Given the description of an element on the screen output the (x, y) to click on. 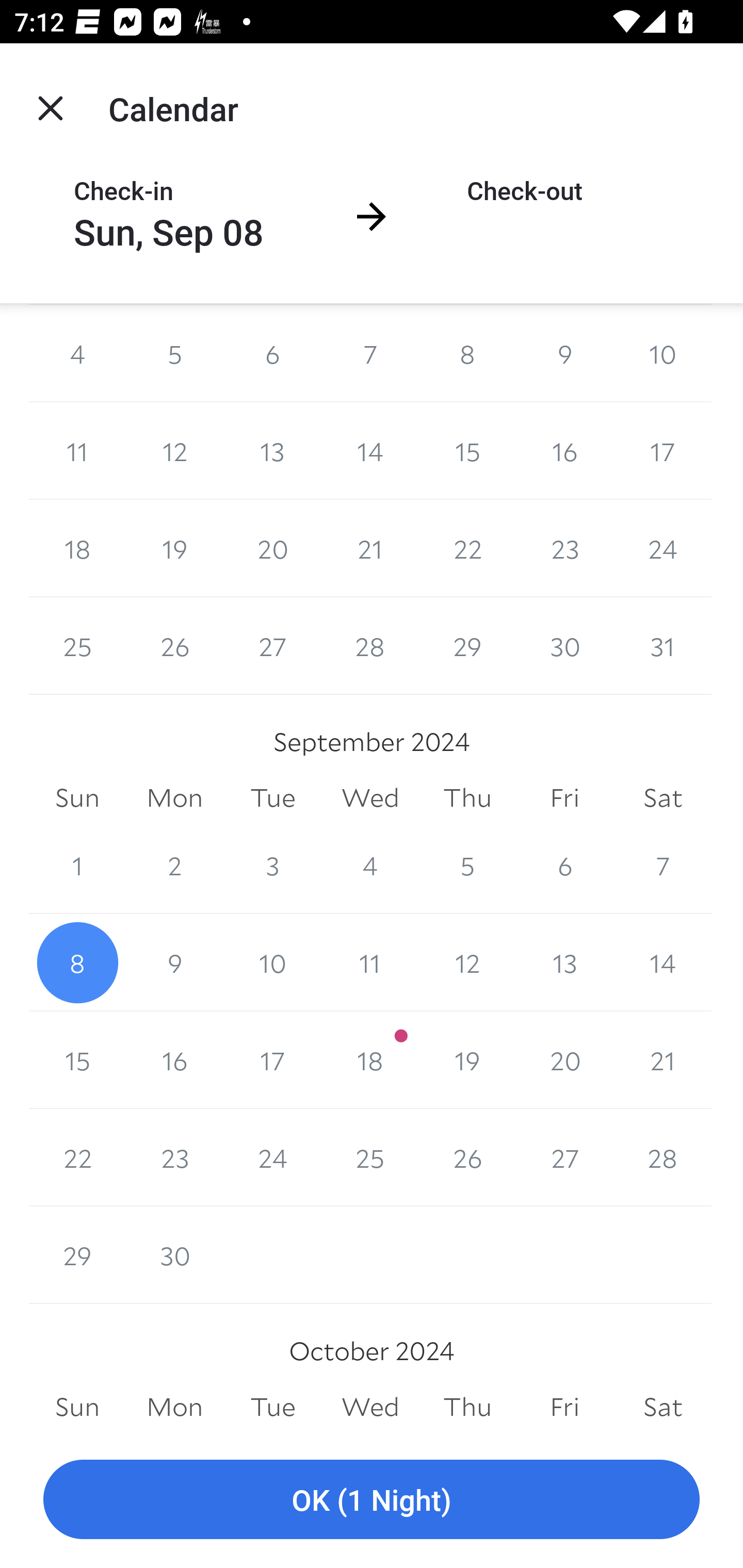
4 4 August 2024 (77, 353)
5 5 August 2024 (174, 353)
6 6 August 2024 (272, 353)
7 7 August 2024 (370, 353)
8 8 August 2024 (467, 353)
9 9 August 2024 (564, 353)
10 10 August 2024 (662, 353)
11 11 August 2024 (77, 451)
12 12 August 2024 (174, 451)
13 13 August 2024 (272, 451)
14 14 August 2024 (370, 451)
15 15 August 2024 (467, 451)
16 16 August 2024 (564, 451)
17 17 August 2024 (662, 451)
18 18 August 2024 (77, 548)
19 19 August 2024 (174, 548)
20 20 August 2024 (272, 548)
21 21 August 2024 (370, 548)
22 22 August 2024 (467, 548)
23 23 August 2024 (564, 548)
24 24 August 2024 (662, 548)
25 25 August 2024 (77, 645)
26 26 August 2024 (174, 645)
27 27 August 2024 (272, 645)
28 28 August 2024 (370, 645)
29 29 August 2024 (467, 645)
30 30 August 2024 (564, 645)
31 31 August 2024 (662, 645)
Sun (77, 797)
Mon (174, 797)
Tue (272, 797)
Wed (370, 797)
Thu (467, 797)
Fri (564, 797)
Sat (662, 797)
1 1 September 2024 (77, 865)
2 2 September 2024 (174, 865)
3 3 September 2024 (272, 865)
4 4 September 2024 (370, 865)
5 5 September 2024 (467, 865)
6 6 September 2024 (564, 865)
7 7 September 2024 (662, 865)
8 8 September 2024 (77, 962)
9 9 September 2024 (174, 962)
10 10 September 2024 (272, 962)
11 11 September 2024 (370, 962)
12 12 September 2024 (467, 962)
13 13 September 2024 (564, 962)
14 14 September 2024 (662, 962)
